Given the description of an element on the screen output the (x, y) to click on. 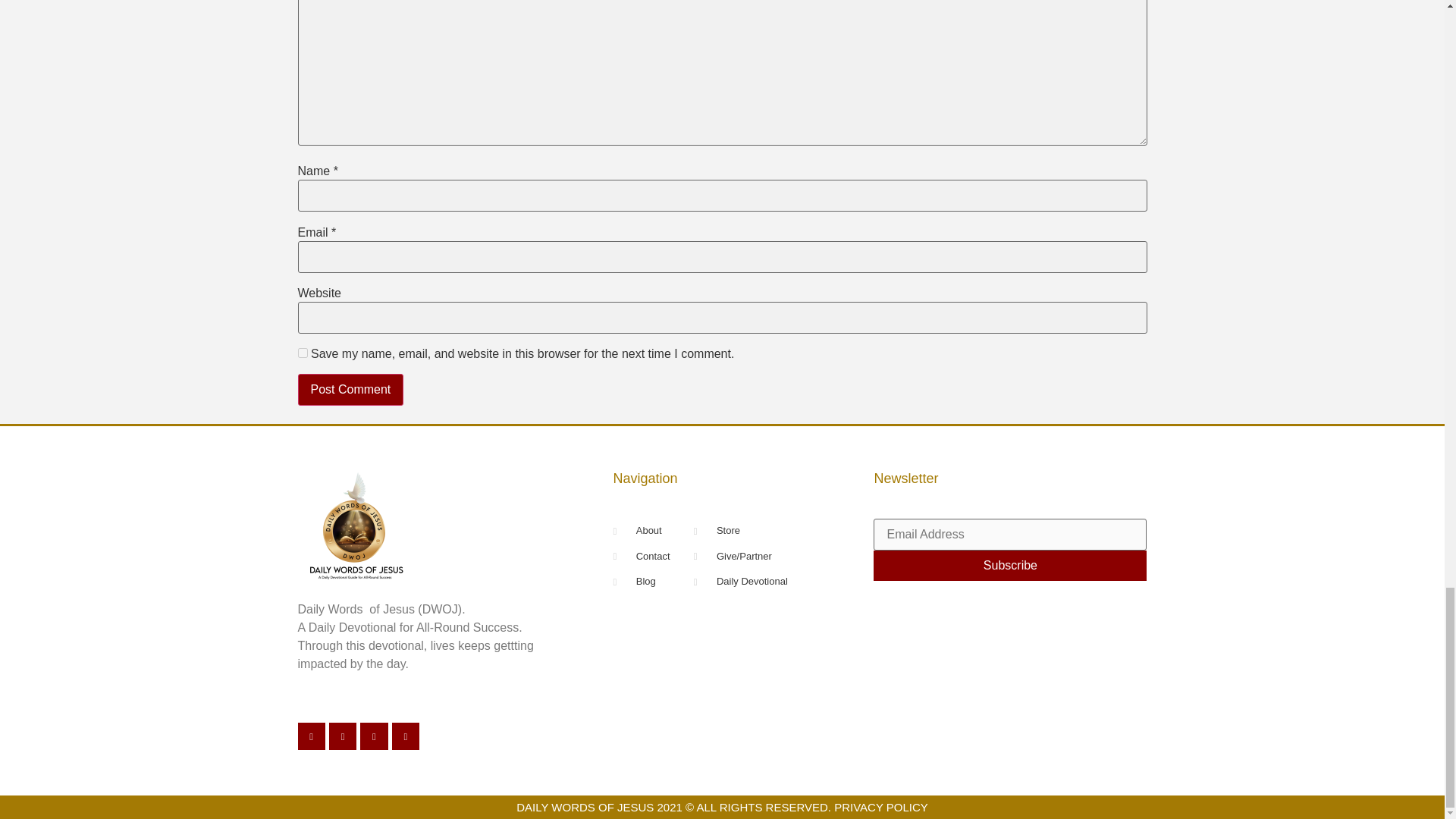
yes (302, 352)
Subscribe (1010, 565)
Post Comment (350, 389)
